Given the description of an element on the screen output the (x, y) to click on. 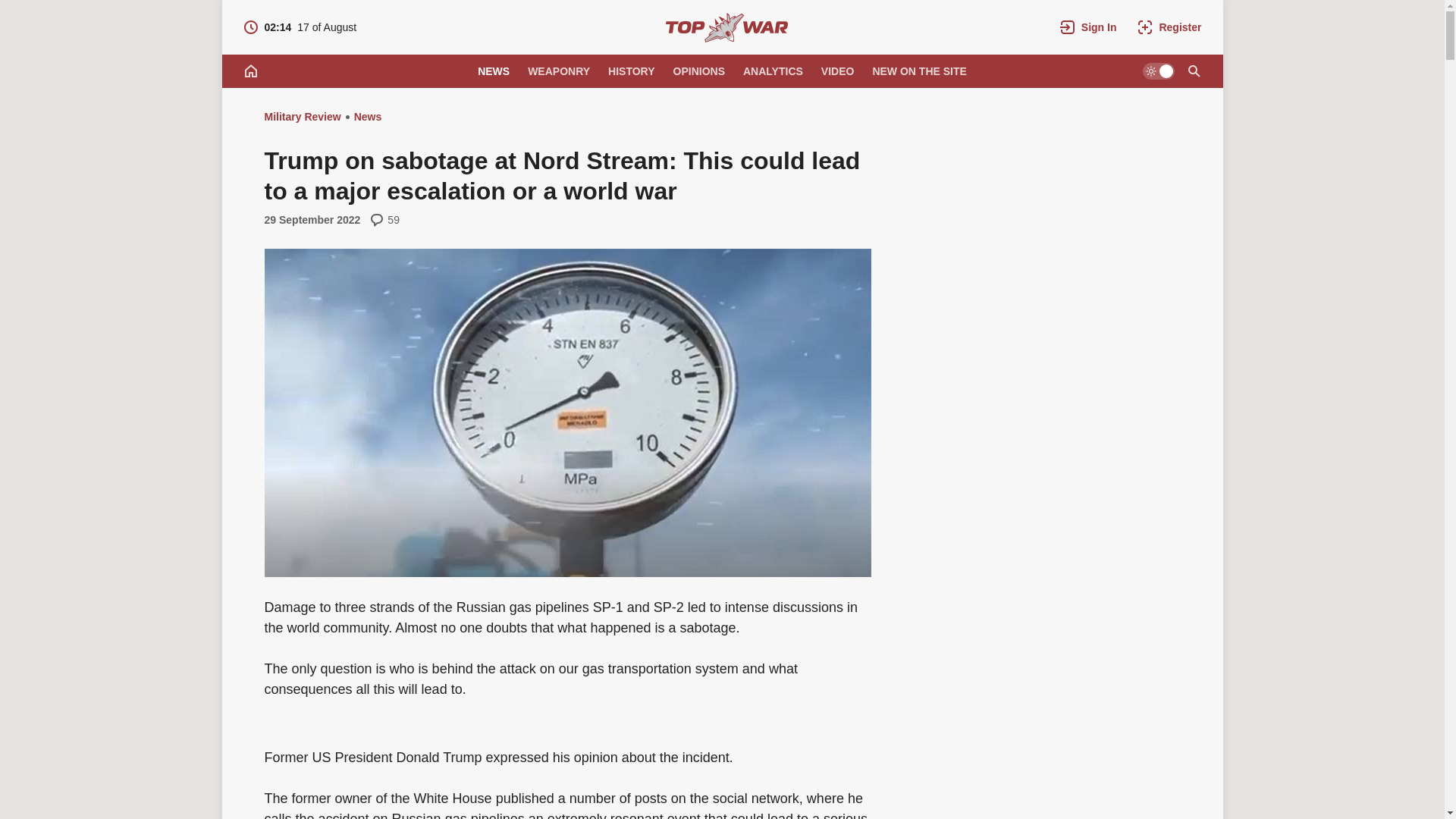
Military Review (301, 116)
OPINIONS (698, 70)
WEAPONRY (299, 27)
Register (558, 70)
HISTORY (1168, 27)
Sign In (630, 70)
NEWS (1088, 27)
NEW ON THE SITE (493, 70)
VIDEO (919, 70)
